Given the description of an element on the screen output the (x, y) to click on. 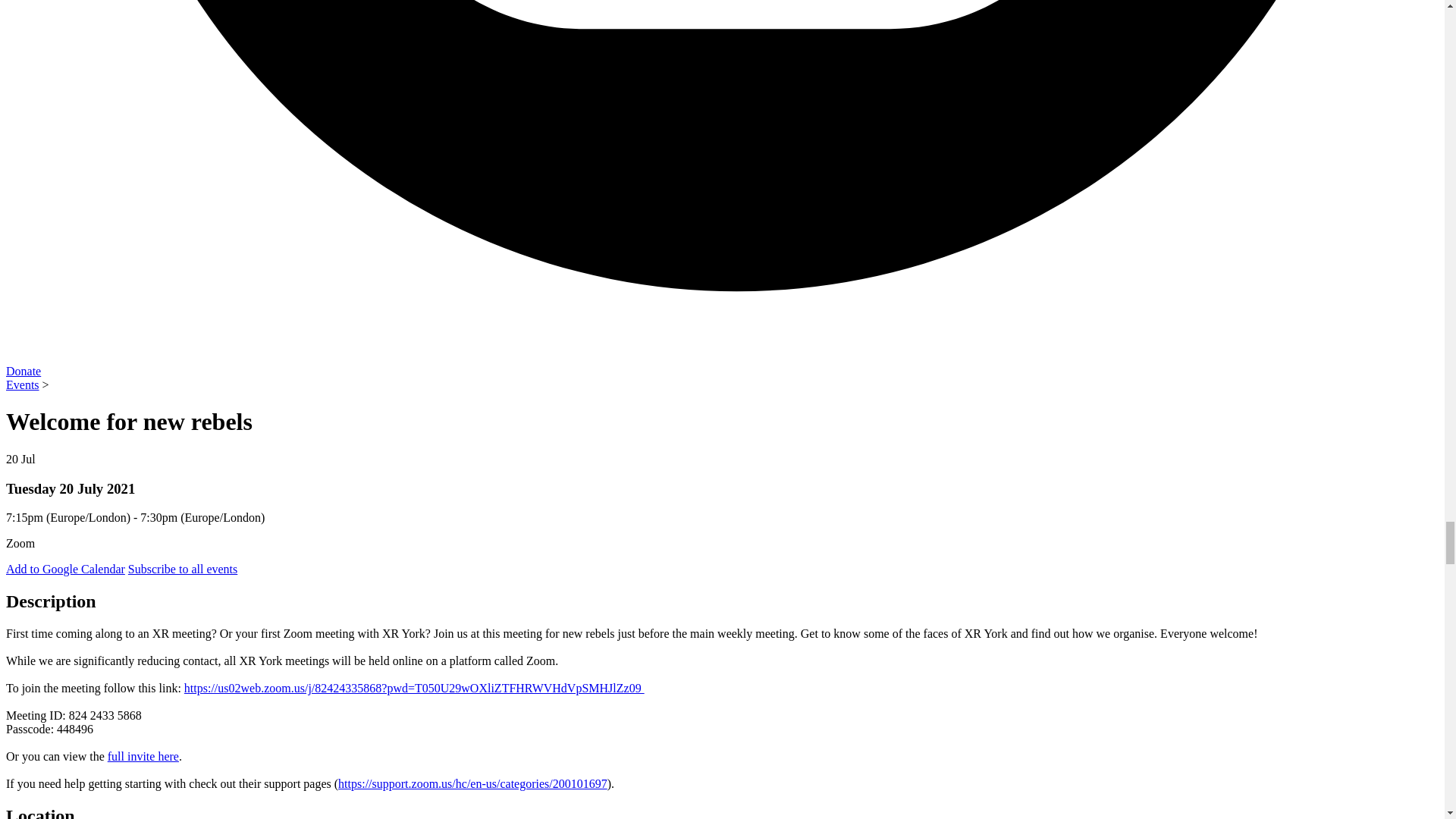
Donate (22, 370)
full invite here (143, 756)
Add to Google Calendar (65, 568)
Events (22, 384)
Subscribe to all events (182, 568)
